Given the description of an element on the screen output the (x, y) to click on. 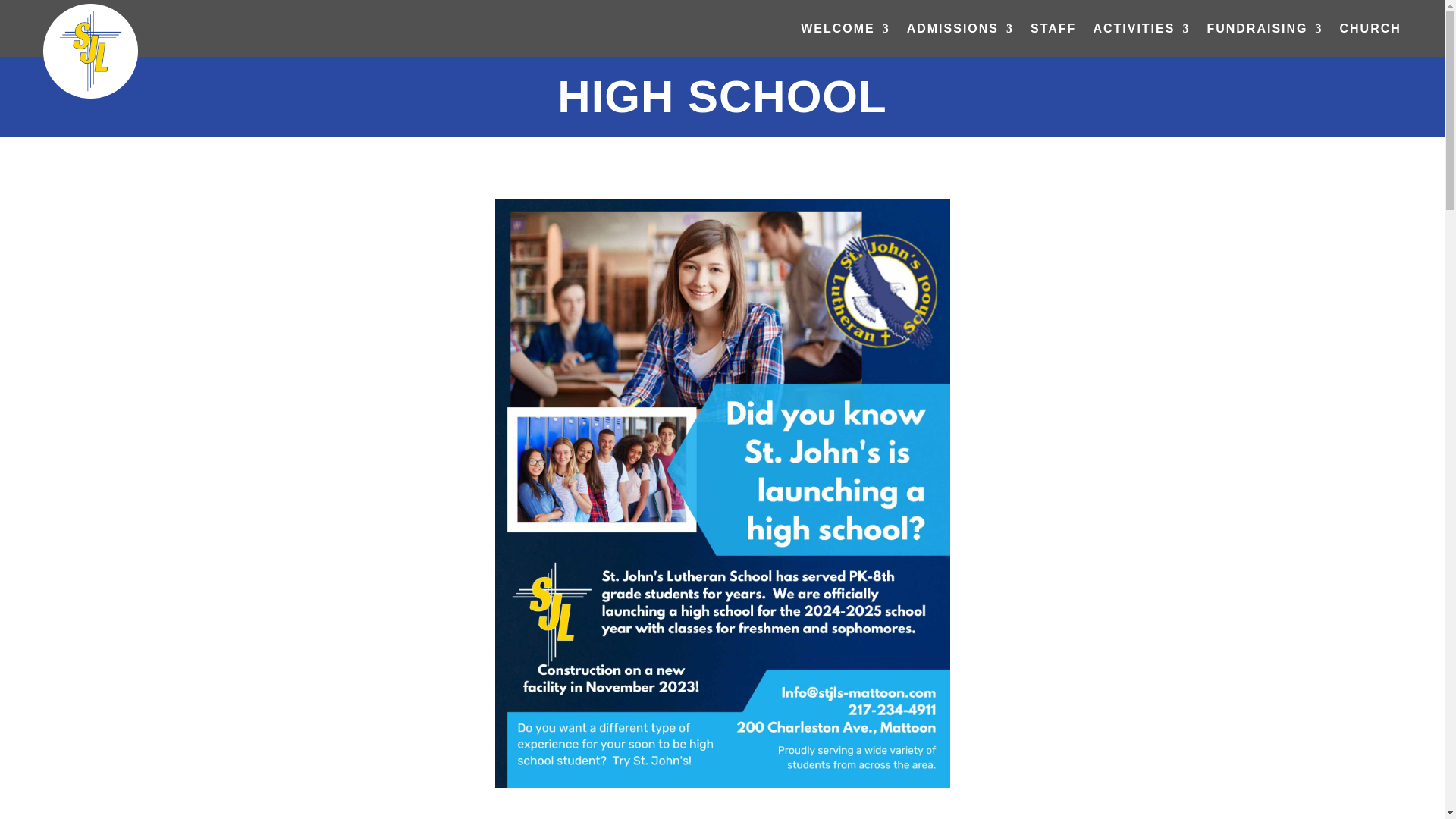
SJL-Icon (90, 51)
CHURCH (1369, 30)
ACTIVITIES (1141, 30)
STAFF (1052, 30)
FUNDRAISING (1264, 30)
ADMISSIONS (960, 30)
WELCOME (844, 30)
